Given the description of an element on the screen output the (x, y) to click on. 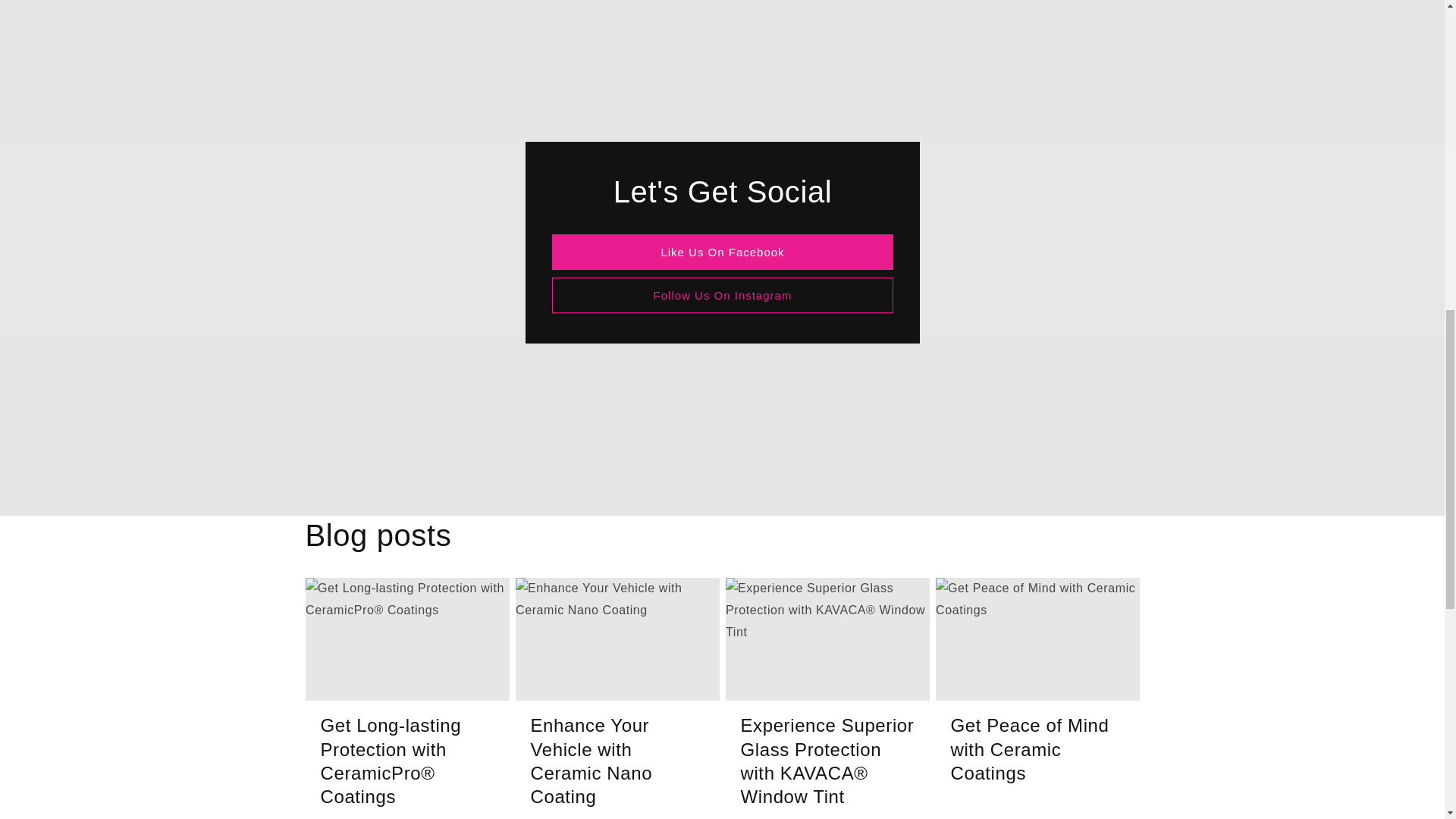
Enhance Your Vehicle with Ceramic Nano Coating (617, 760)
Like Us On Facebook (722, 252)
Follow Us On Instagram (722, 294)
